Given the description of an element on the screen output the (x, y) to click on. 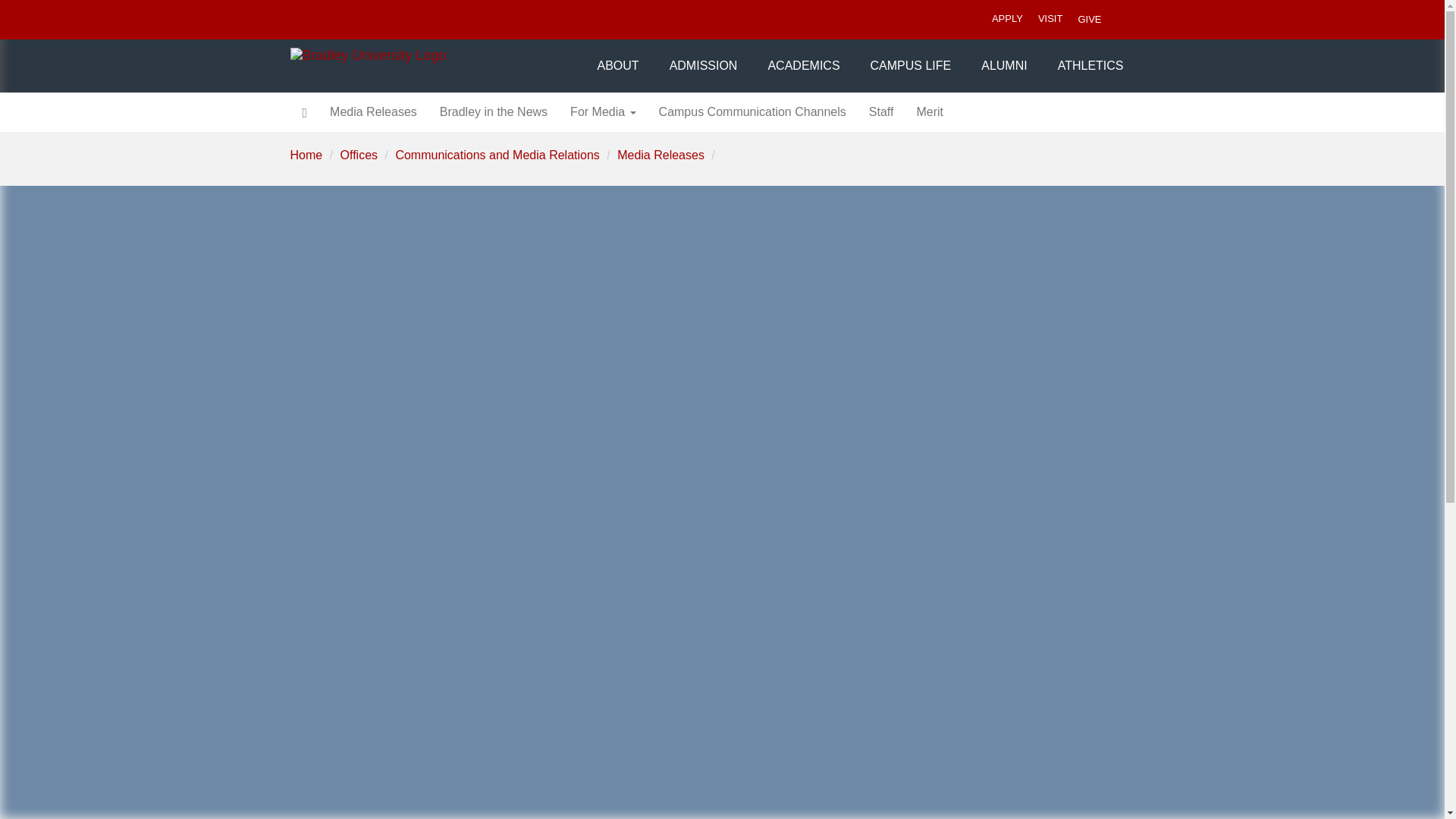
GIVE (1089, 19)
Bradley University (430, 55)
VISIT (1050, 19)
APPLY (1007, 19)
Bradley University (430, 55)
